Given the description of an element on the screen output the (x, y) to click on. 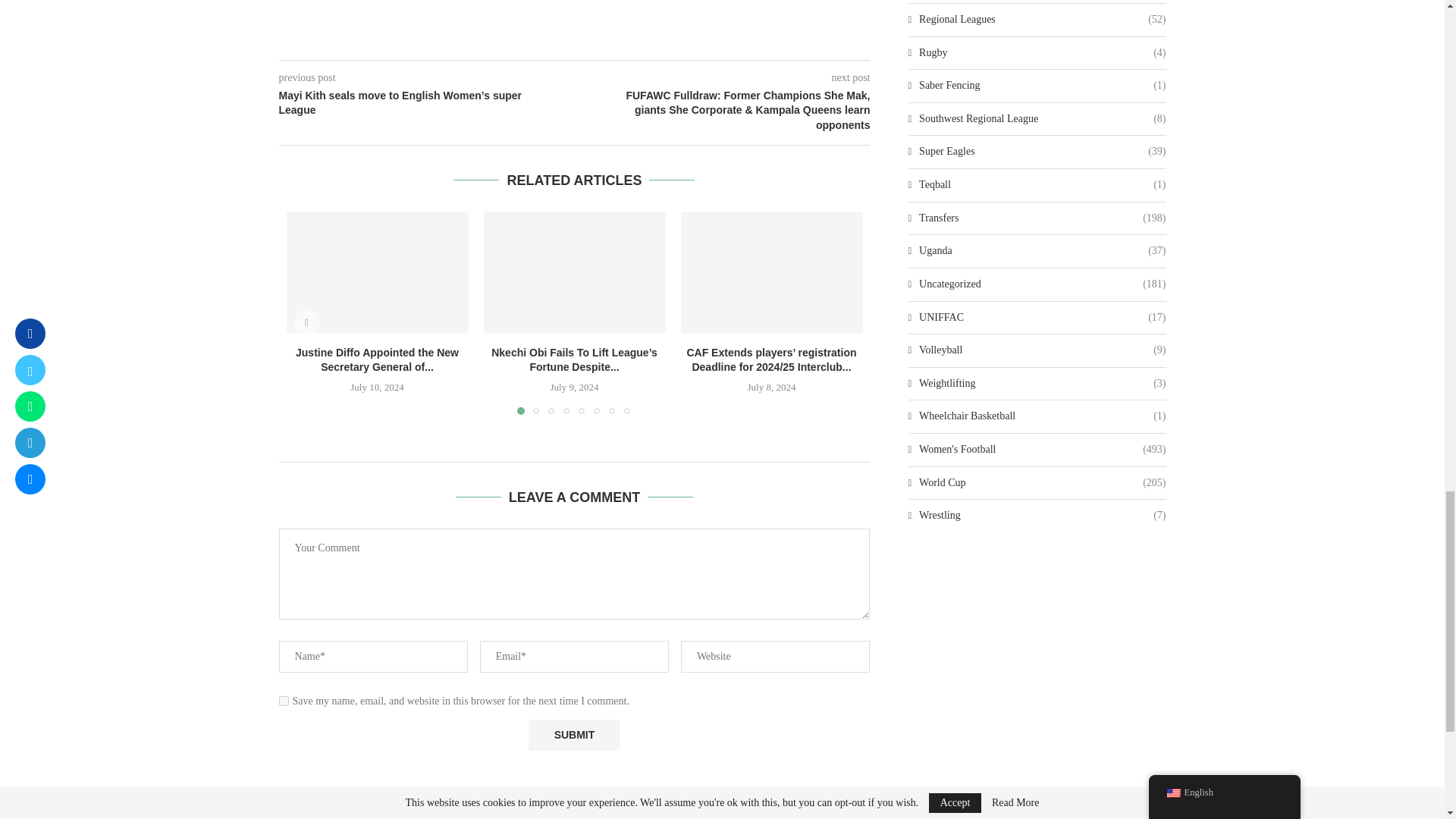
yes (283, 700)
Submit (574, 735)
